Given the description of an element on the screen output the (x, y) to click on. 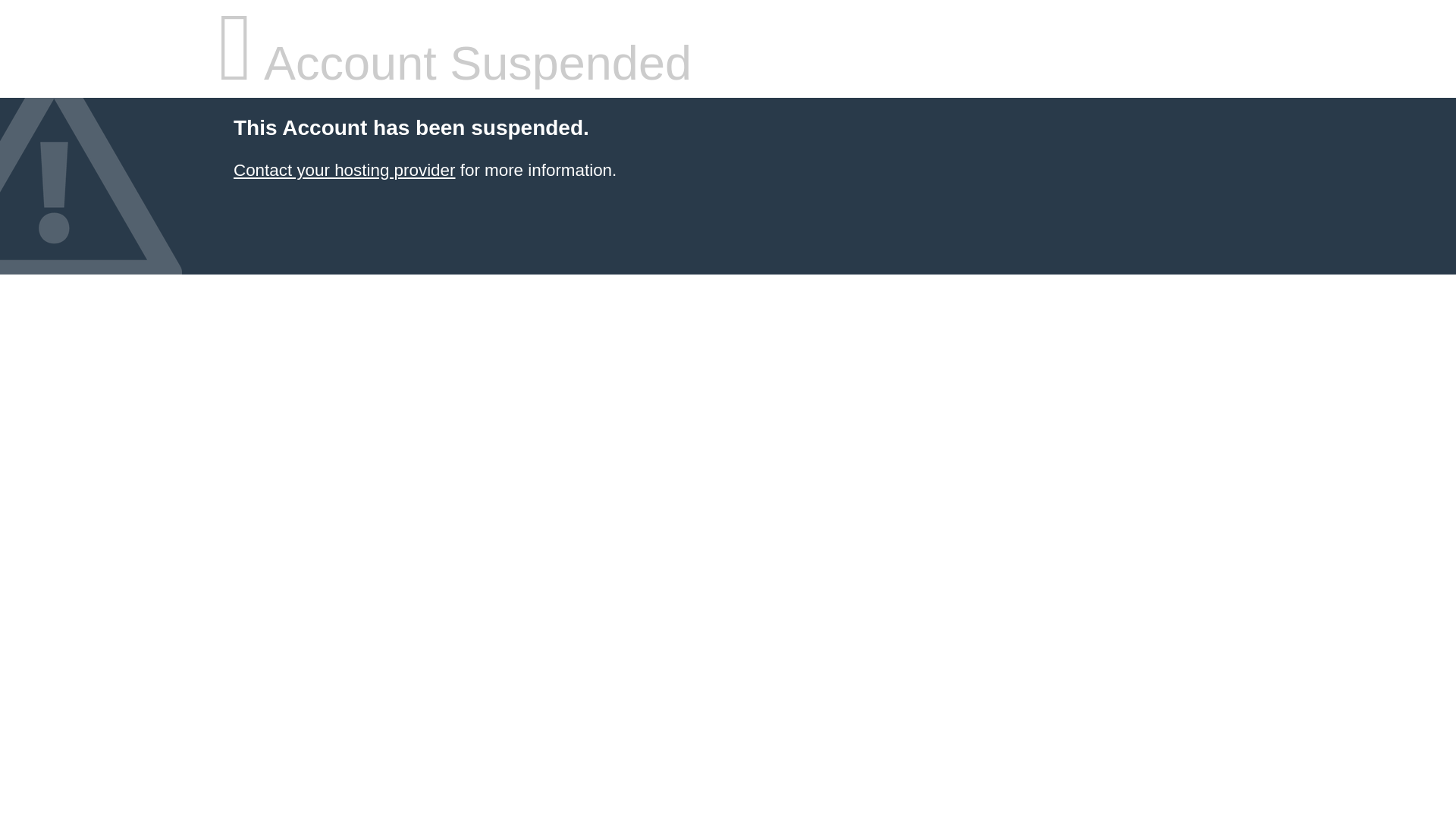
Contact your hosting provider (343, 169)
